Given the description of an element on the screen output the (x, y) to click on. 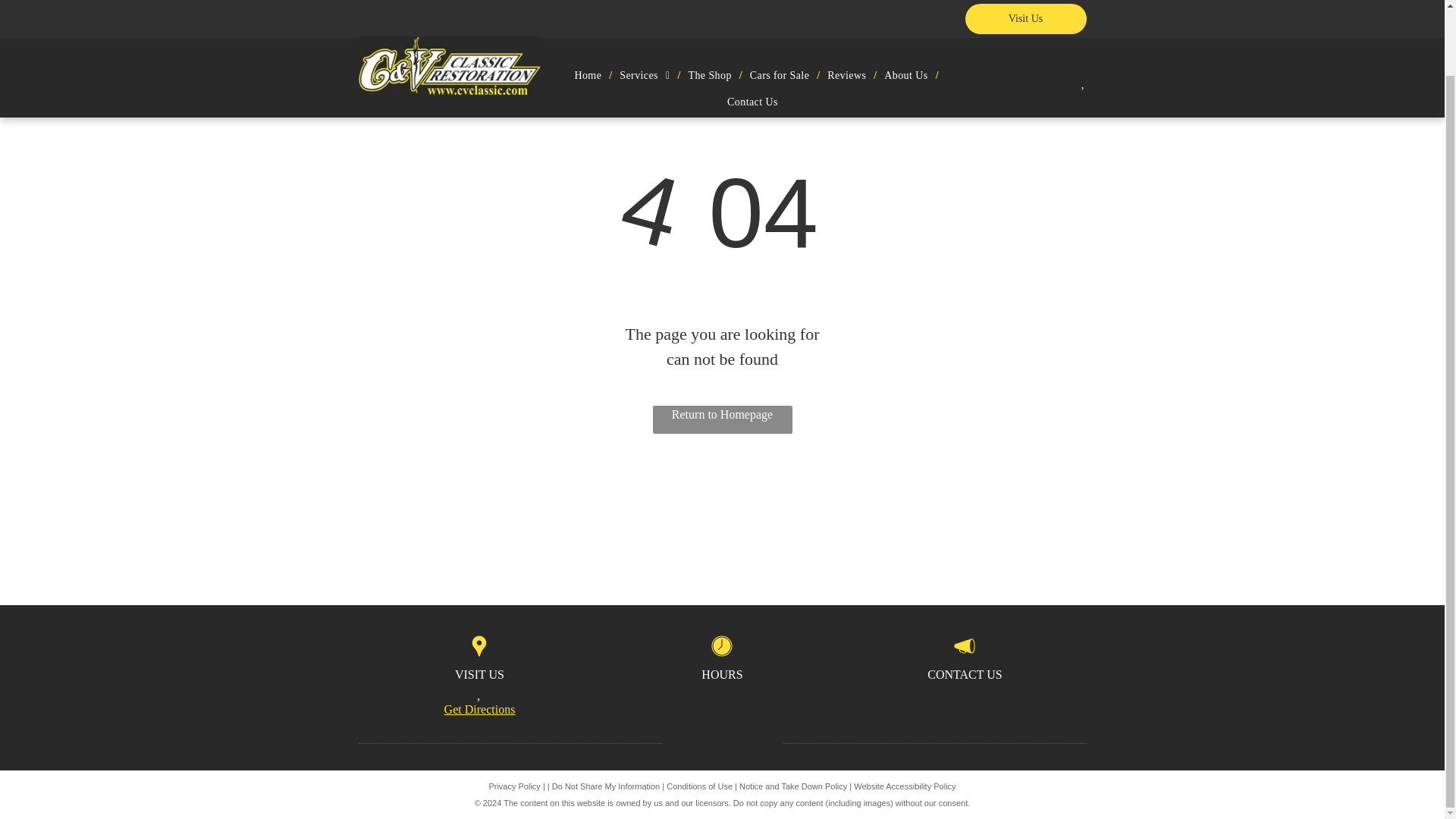
Cars for Sale (779, 8)
Contact Us (752, 28)
Get Directions (478, 709)
Home (587, 8)
Privacy Policy (513, 786)
Return to Homepage (722, 419)
Notice and Take Down Policy (793, 786)
Website Accessibility Policy (904, 786)
Do Not Share My Information (605, 786)
The Shop (709, 8)
